Given the description of an element on the screen output the (x, y) to click on. 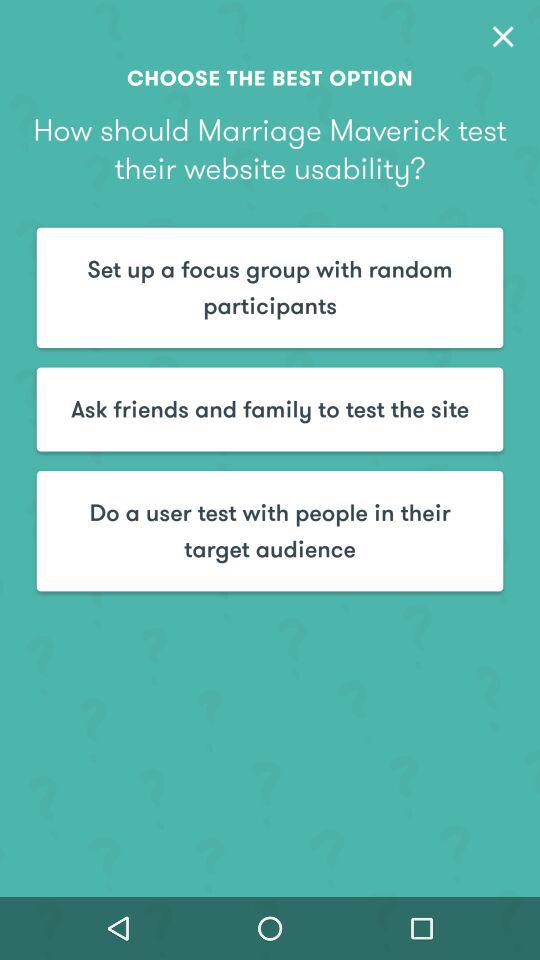
turn off icon next to choose the best icon (503, 36)
